Given the description of an element on the screen output the (x, y) to click on. 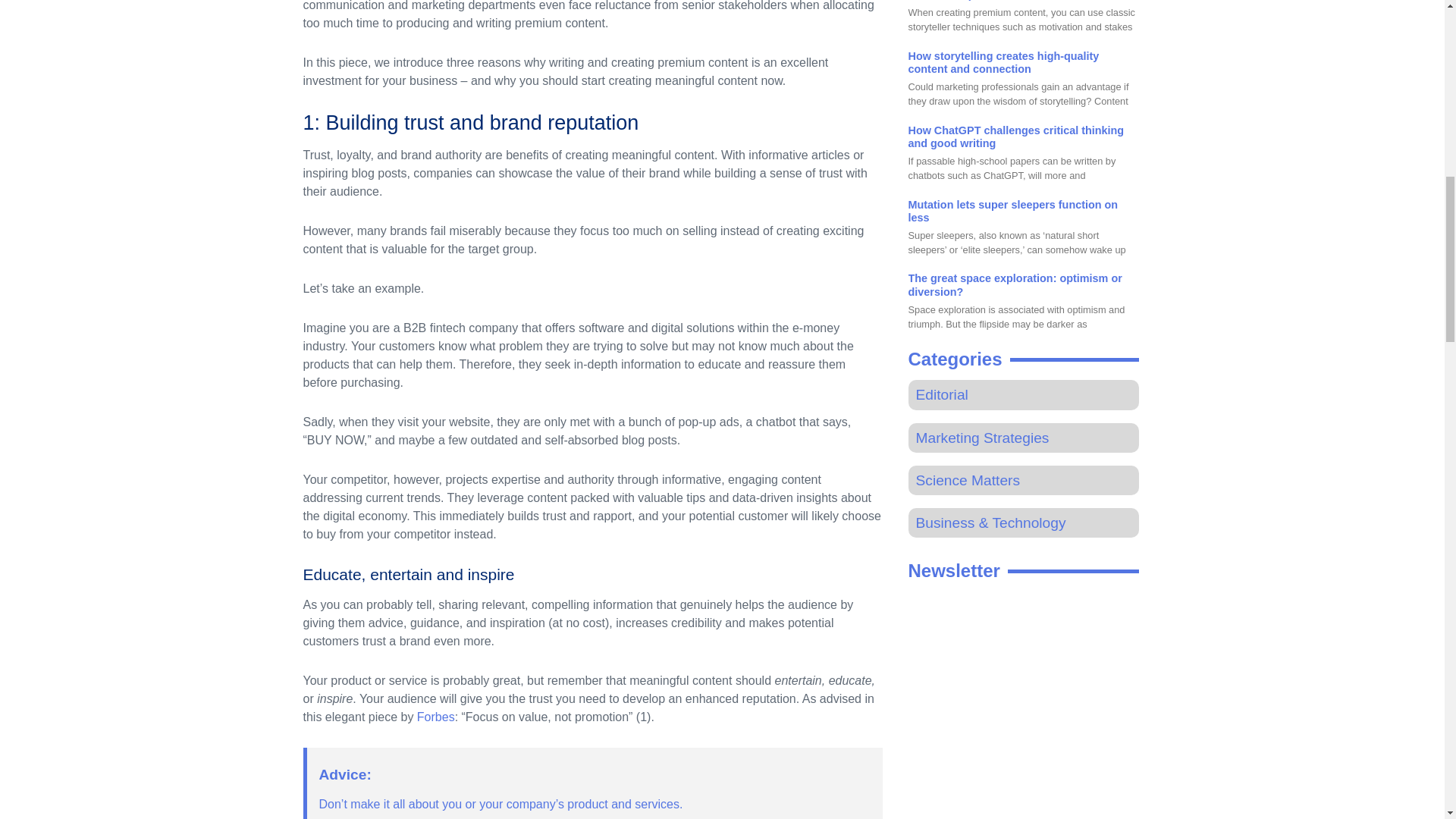
Science Matters (967, 480)
Mutation lets super sleepers function on less (1013, 211)
How ChatGPT challenges critical thinking and good writing (1016, 136)
Marketing Strategies (982, 437)
Forbes (435, 716)
Editorial (941, 394)
The great space exploration: optimism or diversion? (1015, 284)
How storytelling creates high-quality content and connection (1003, 62)
